Given the description of an element on the screen output the (x, y) to click on. 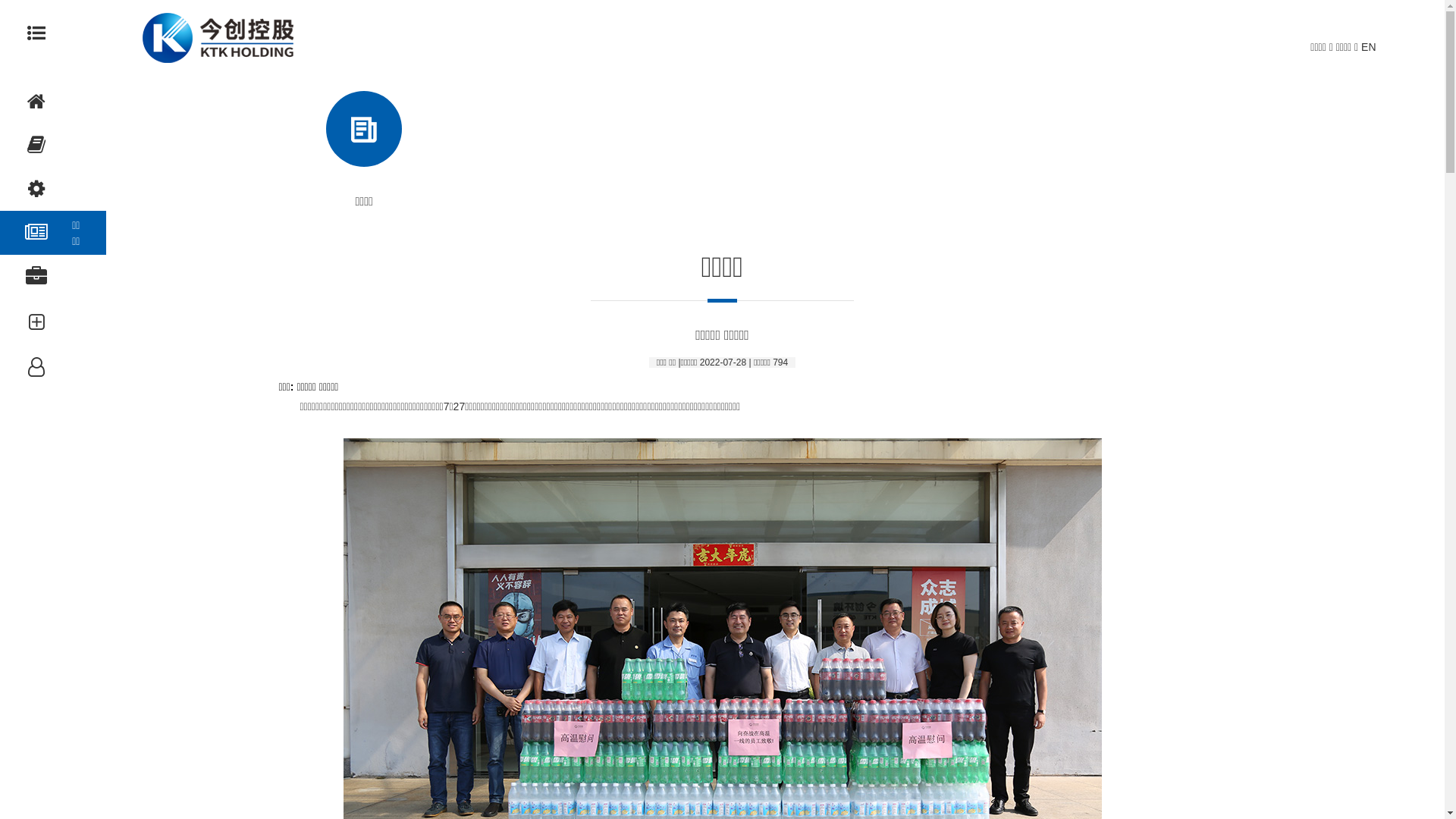
EN Element type: text (1368, 46)
